Given the description of an element on the screen output the (x, y) to click on. 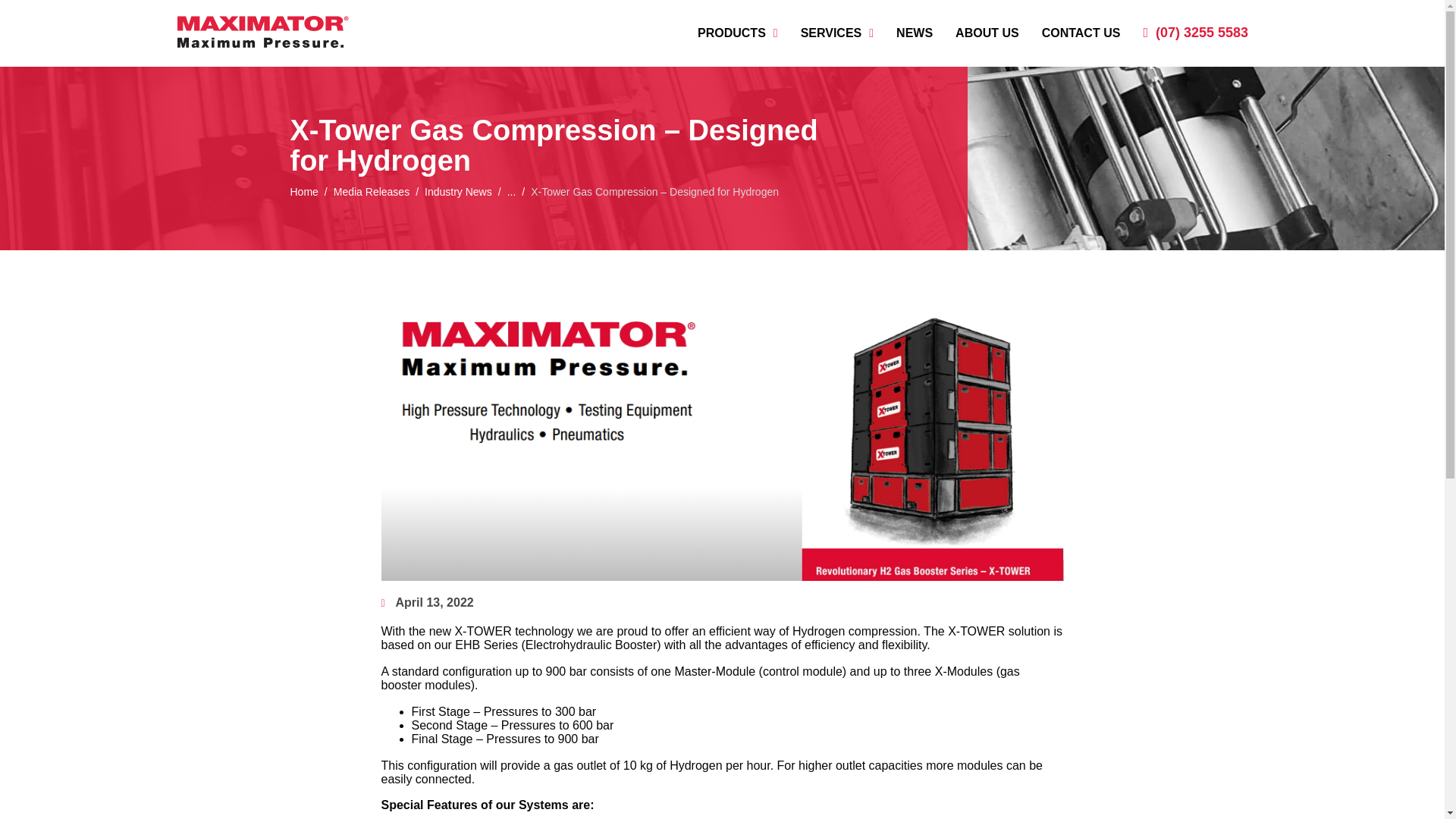
ABOUT US (986, 32)
Home (303, 191)
SERVICES (836, 32)
PRODUCTS (738, 32)
Media Releases (371, 191)
Industry News (458, 191)
CONTACT US (1080, 32)
NEWS (914, 32)
April 13, 2022 (426, 602)
